Given the description of an element on the screen output the (x, y) to click on. 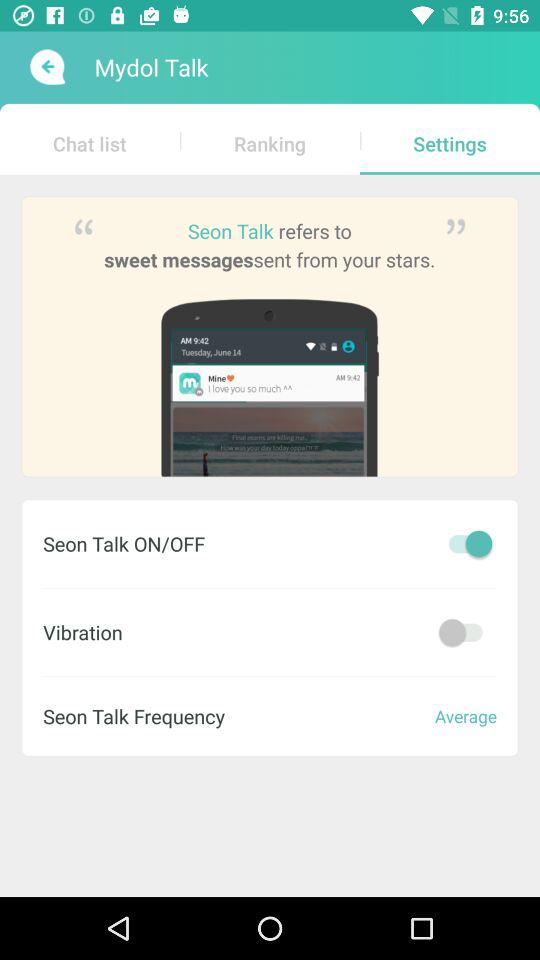
app on/off mode (465, 632)
